Given the description of an element on the screen output the (x, y) to click on. 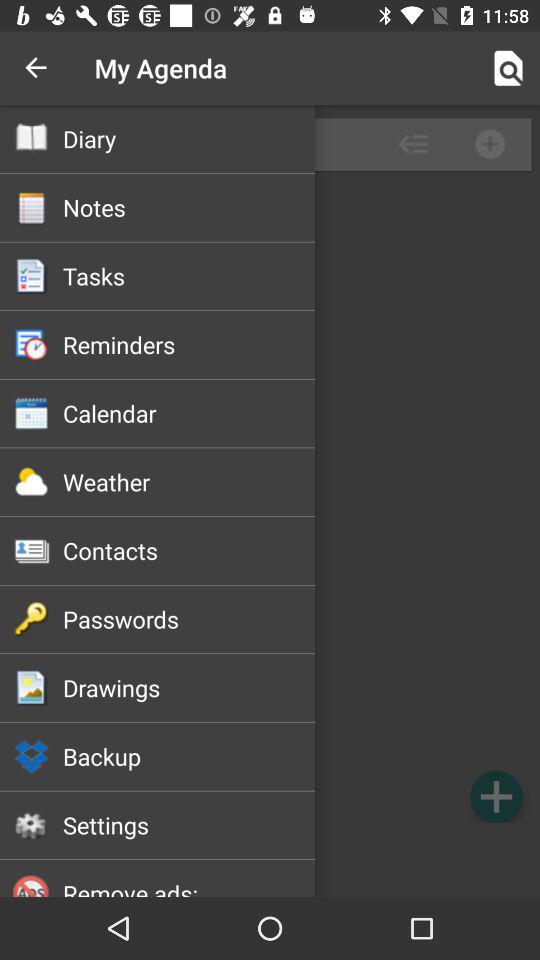
click the item below the backup icon (188, 825)
